Given the description of an element on the screen output the (x, y) to click on. 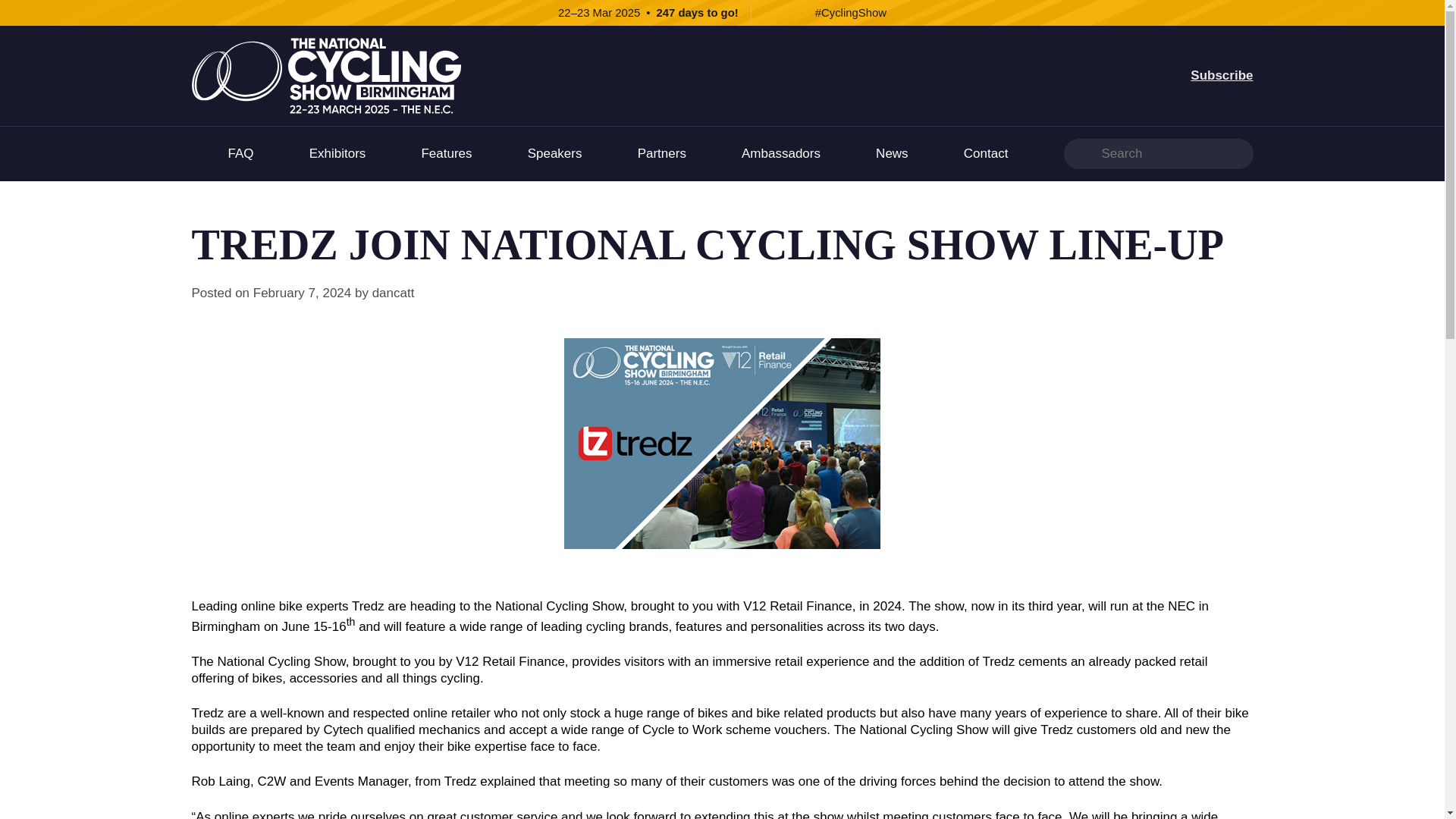
Ambassadors (781, 153)
Features (445, 153)
Contact (986, 153)
Speakers (554, 153)
FAQ (240, 153)
Partners (661, 153)
Exhibitors (337, 153)
Subscribe (1221, 74)
News (892, 153)
